Given the description of an element on the screen output the (x, y) to click on. 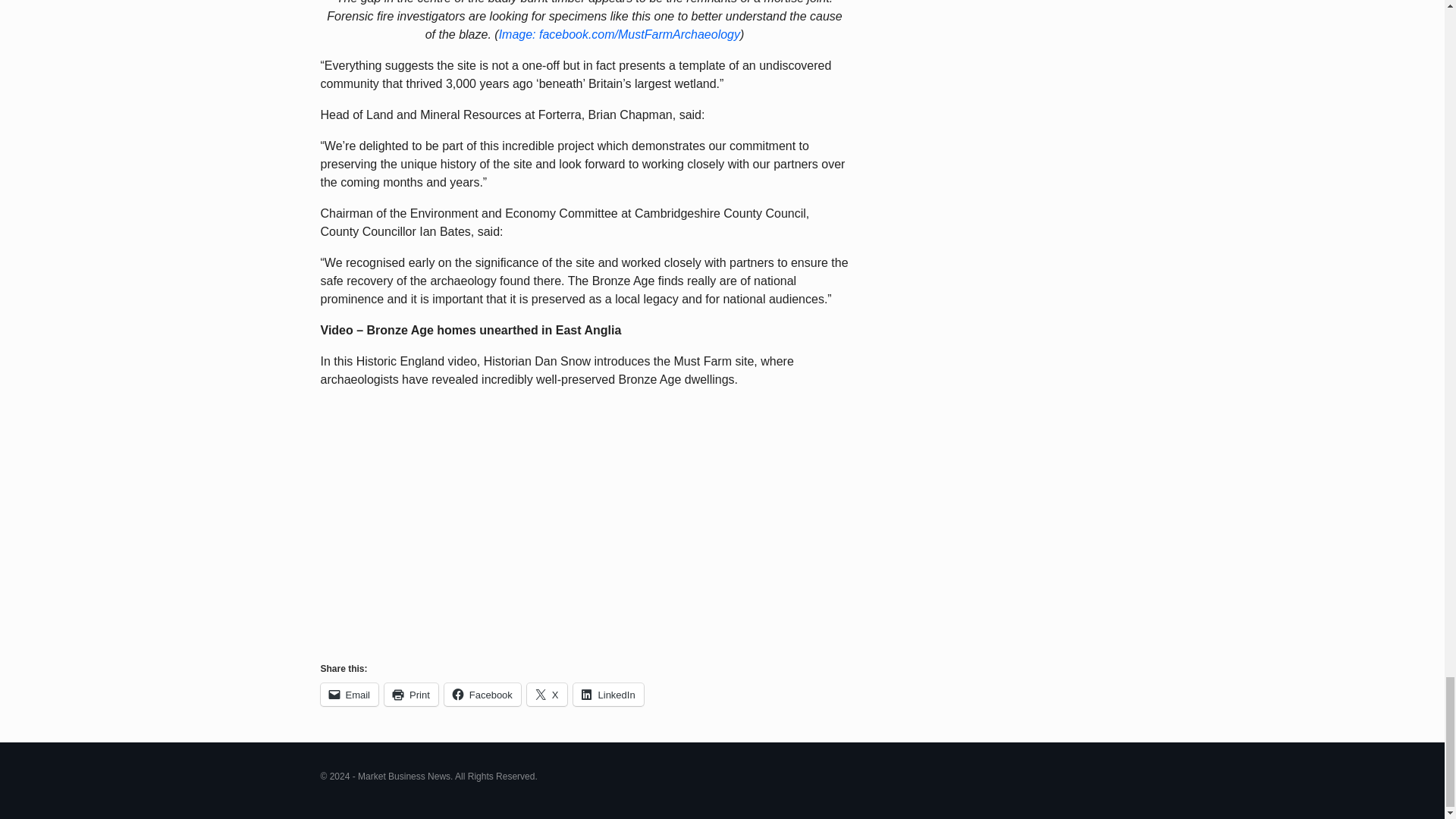
Click to share on X (547, 694)
Click to email a link to a friend (349, 694)
Click to print (411, 694)
Print (411, 694)
X (547, 694)
Click to share on LinkedIn (608, 694)
Click to share on Facebook (482, 694)
Email (349, 694)
Facebook (482, 694)
LinkedIn (608, 694)
